Given the description of an element on the screen output the (x, y) to click on. 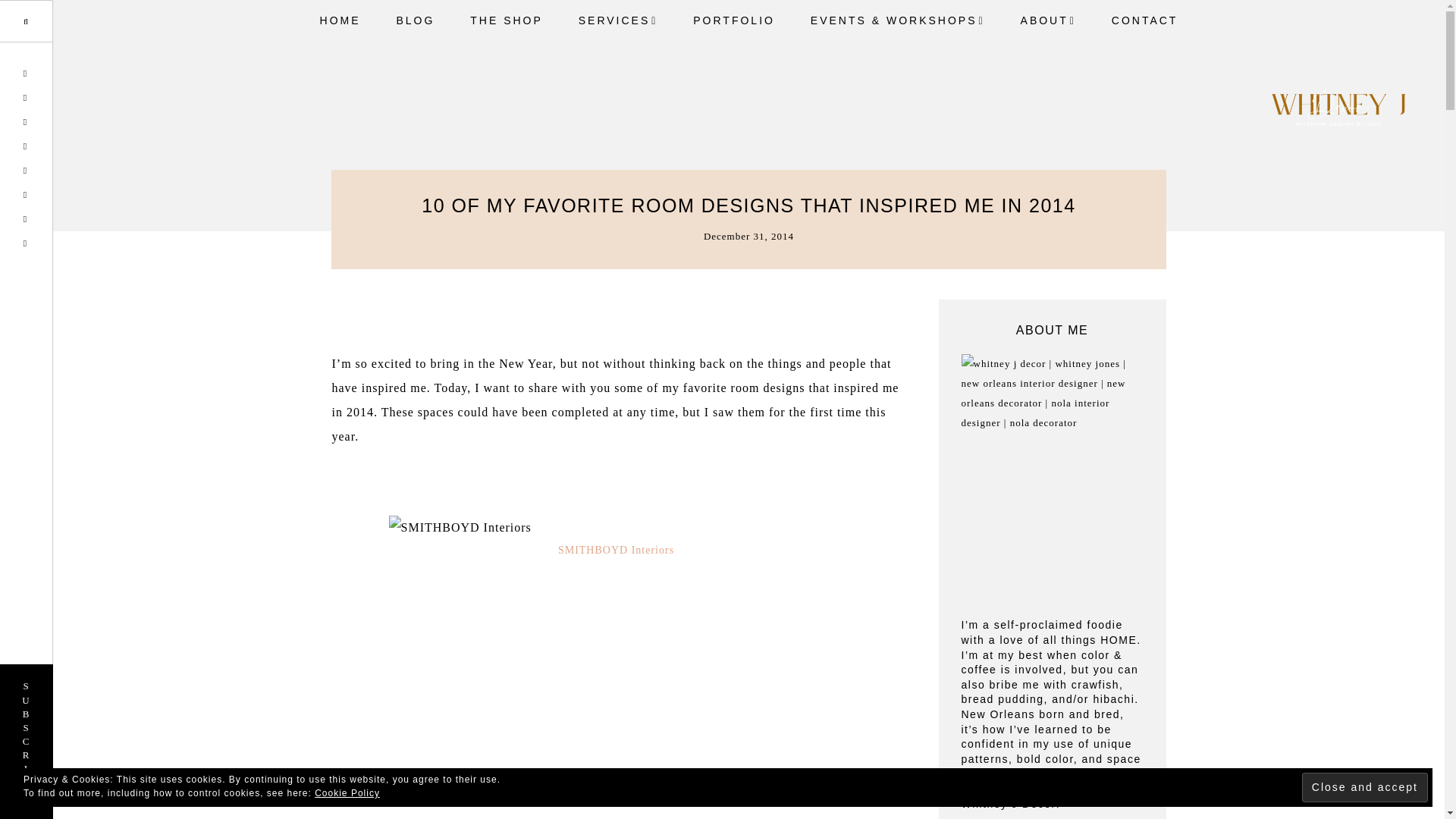
ABOUT (1048, 20)
THE SHOP (505, 20)
Close and accept (1364, 787)
SMITHBOYD Interiors (615, 550)
HOME (339, 20)
BLOG (414, 20)
PORTFOLIO (734, 20)
SERVICES (617, 20)
Whitney J Decor (1337, 110)
CONTACT (1144, 20)
